Given the description of an element on the screen output the (x, y) to click on. 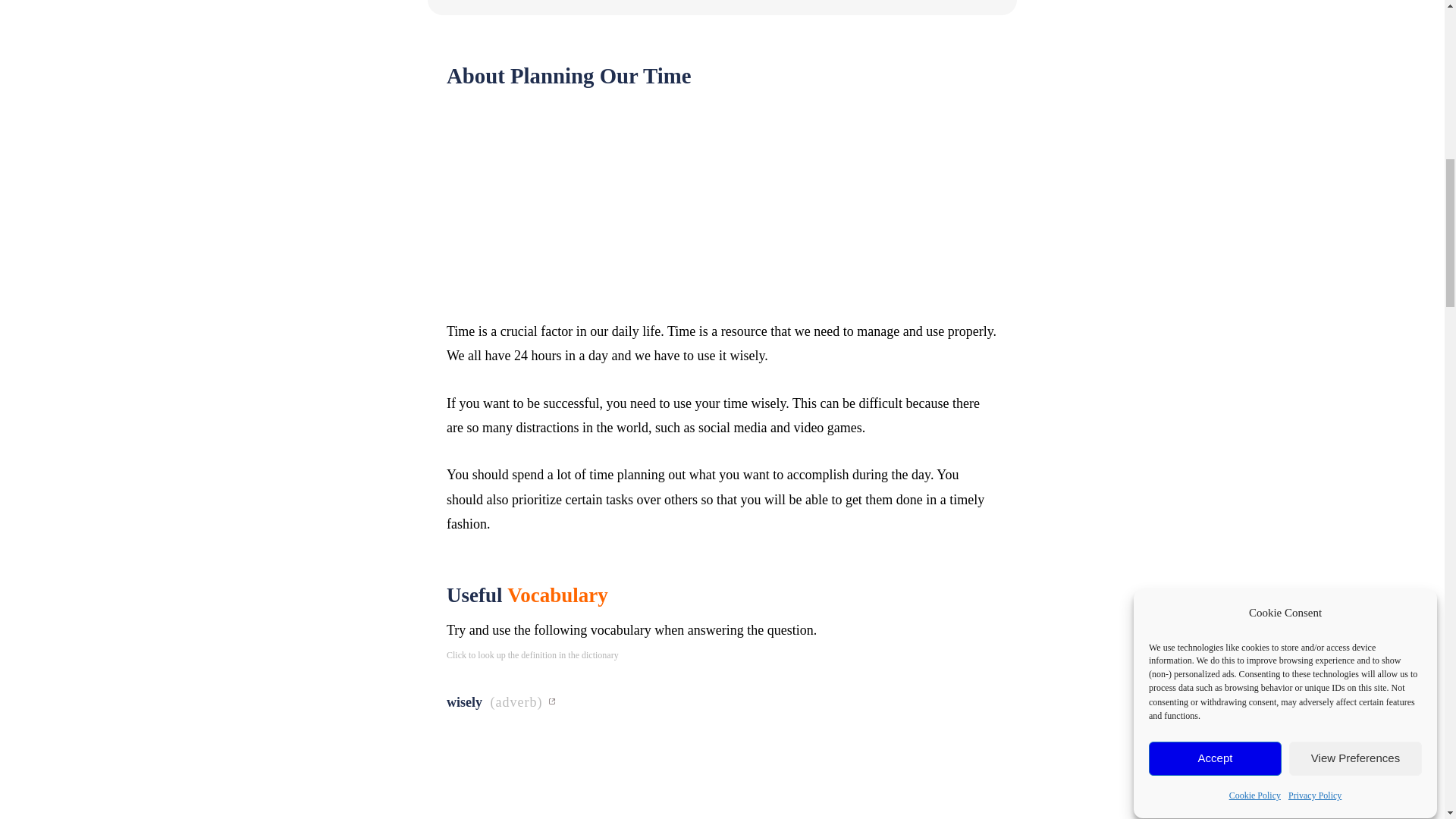
Cookie Policy (1254, 1)
Advertisement (721, 770)
Advertisement (721, 213)
Accept (1214, 6)
